Given the description of an element on the screen output the (x, y) to click on. 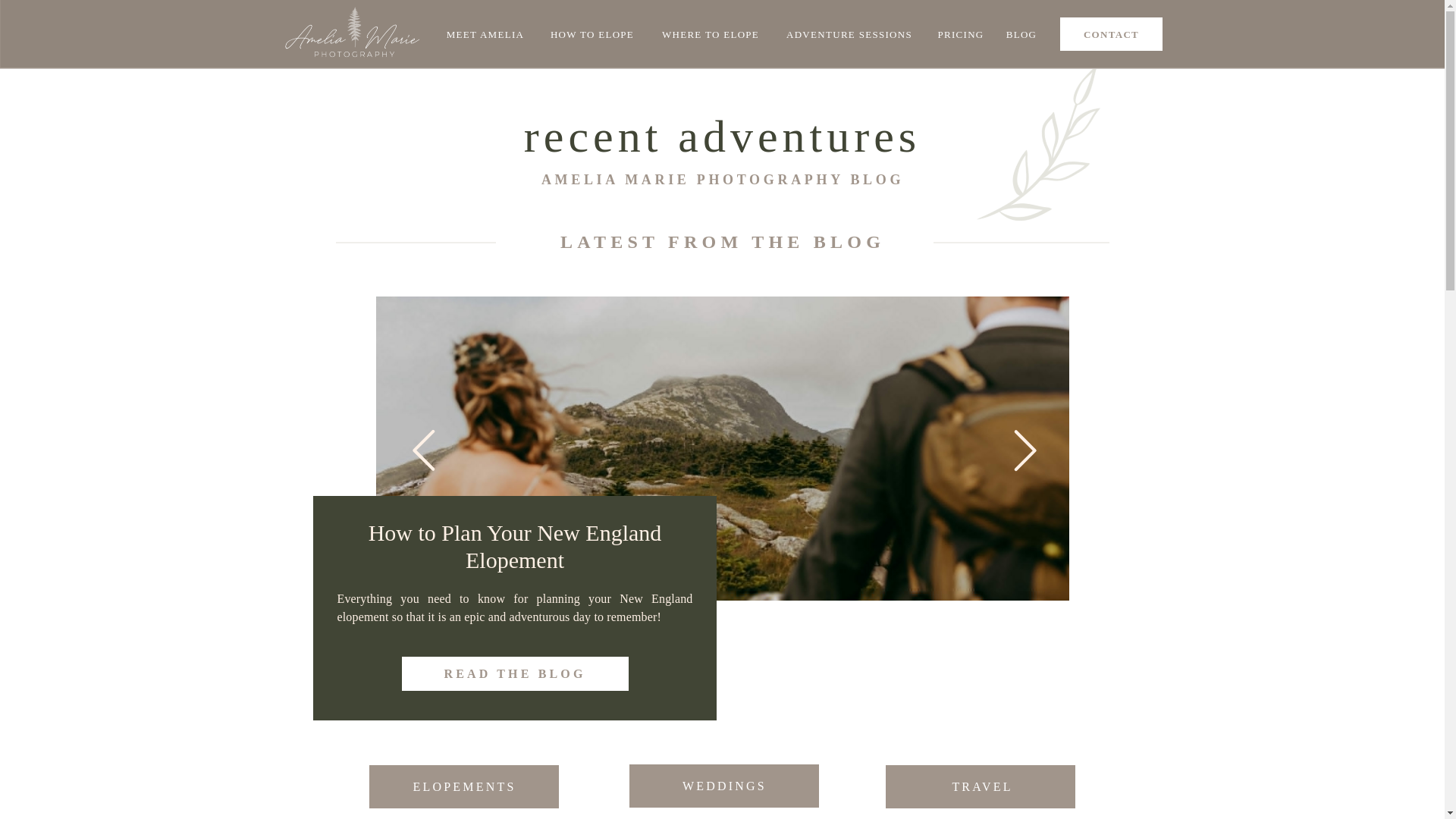
HOW TO ELOPE (591, 33)
CONTACT (1111, 33)
How to Plan Your New England Elopement (514, 674)
ADVENTURE SESSIONS (850, 33)
WHERE TO ELOPE (710, 33)
BLOG (1021, 33)
PRICING (960, 33)
MEET AMELIA (485, 33)
How to Plan Your New England Elopement (514, 673)
